Given the description of an element on the screen output the (x, y) to click on. 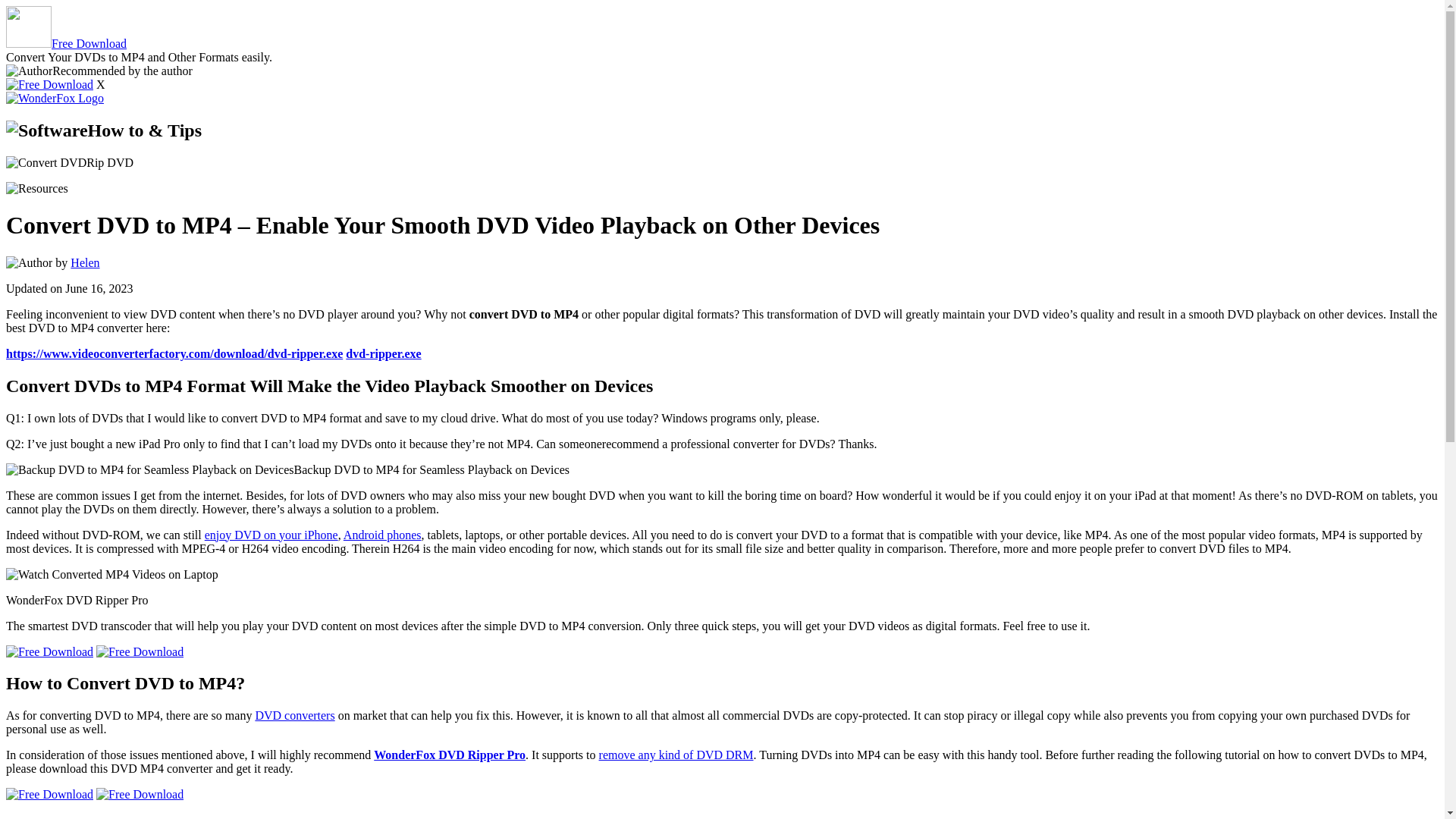
WonderFox - the Fastest DVD Ripper and HD Video Converter (54, 98)
remove any kind of DVD DRM (676, 754)
Free Download (65, 42)
DVD converters (294, 715)
enjoy DVD on your iPhone (271, 533)
dvd-ripper.exe (383, 353)
Android phones (382, 533)
WonderFox DVD Ripper Pro (449, 754)
Helen (84, 262)
